Given the description of an element on the screen output the (x, y) to click on. 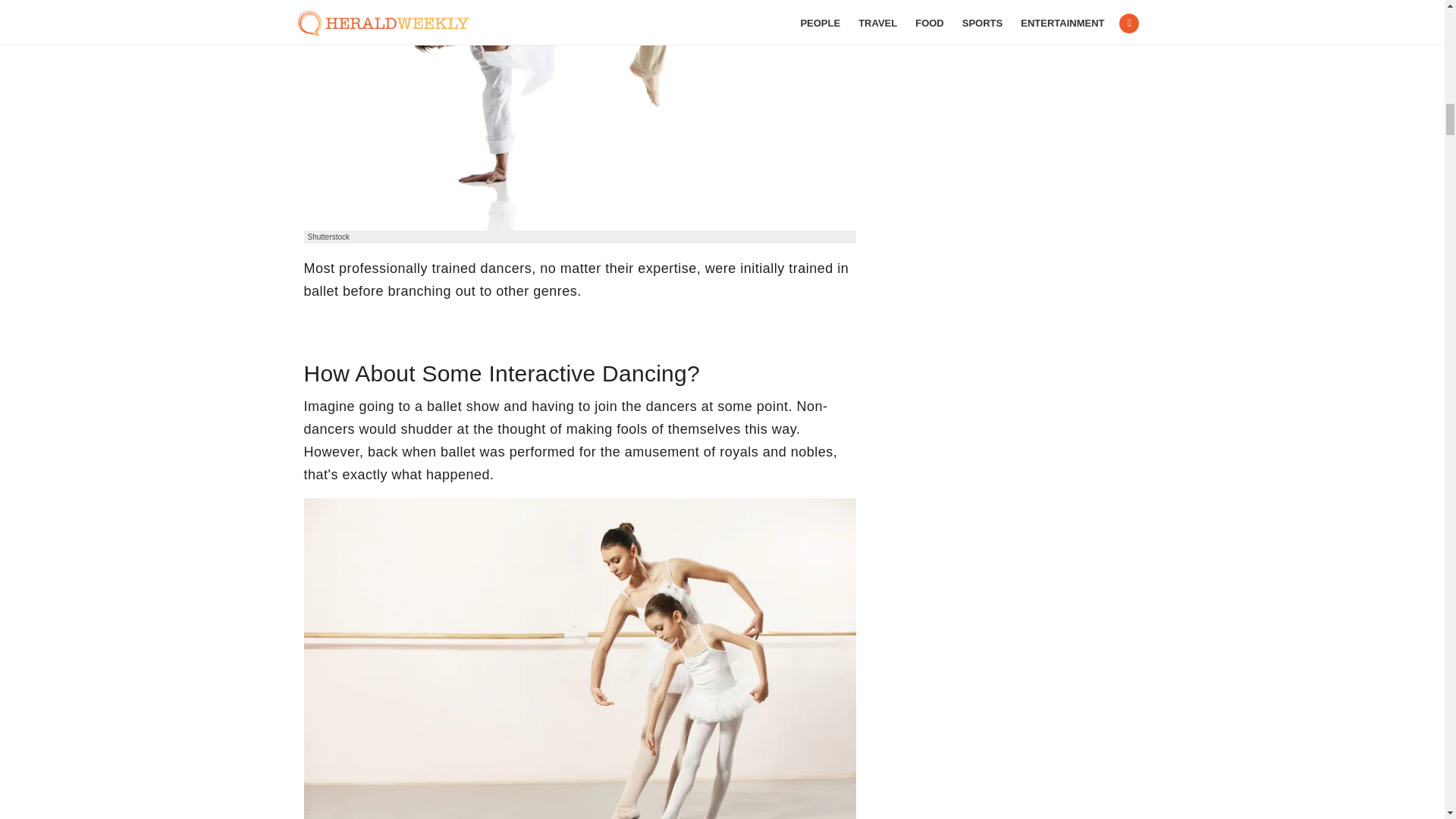
Ballet Dancers Are Super Versatile (579, 115)
